Given the description of an element on the screen output the (x, y) to click on. 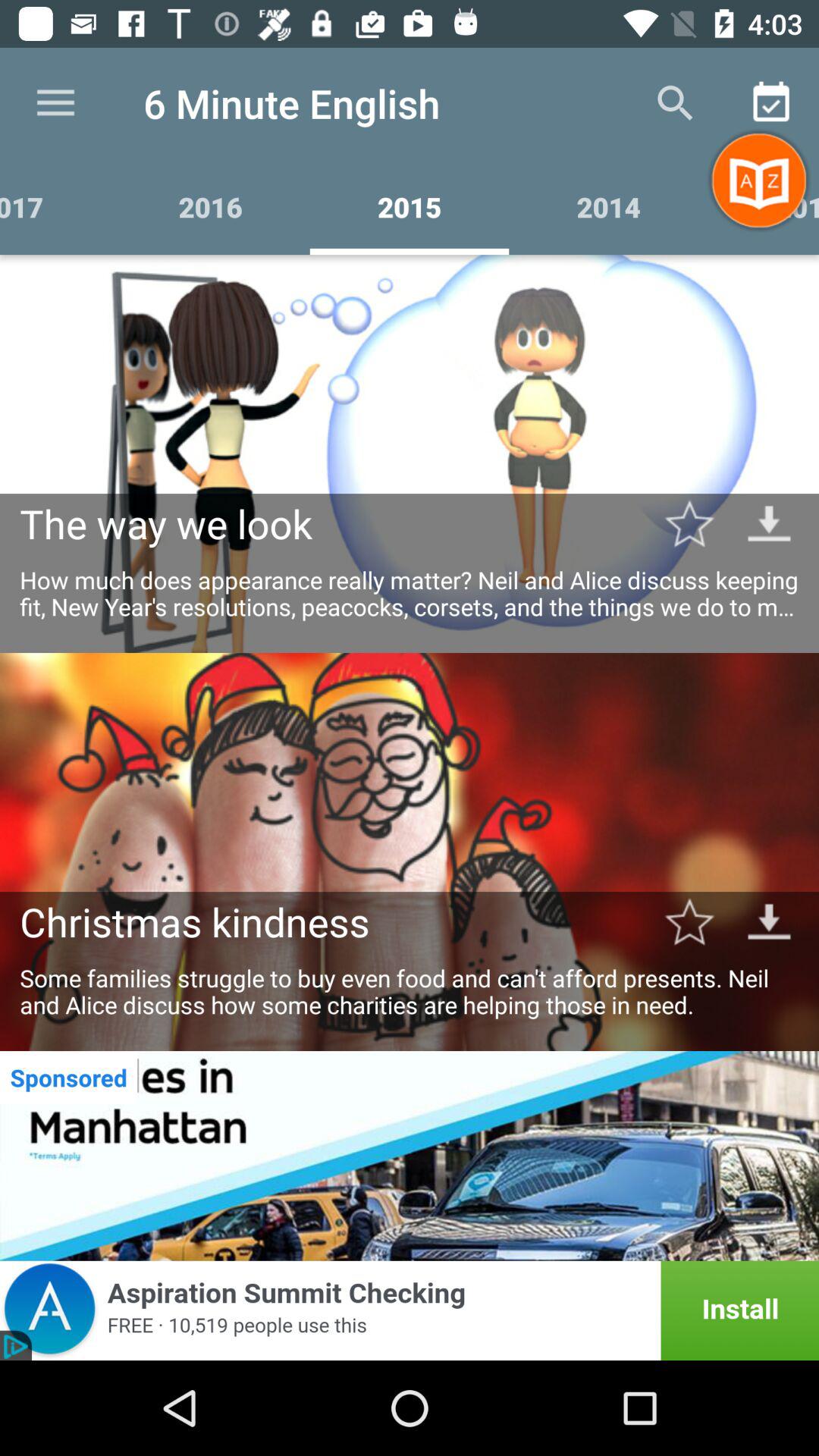
add to favorites (689, 523)
